Given the description of an element on the screen output the (x, y) to click on. 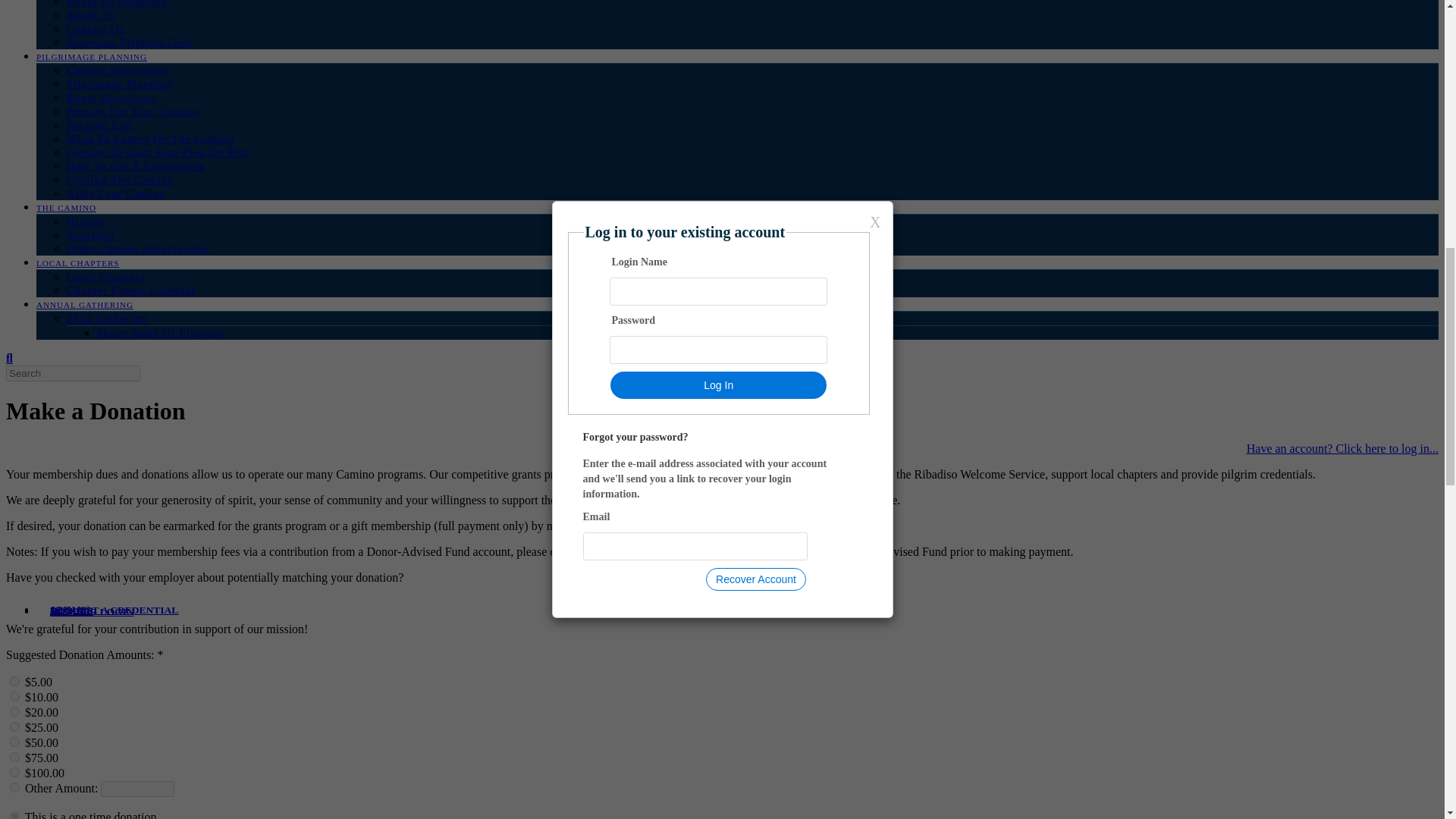
0 (15, 787)
0 (15, 815)
20.0 (15, 711)
5.0 (15, 681)
10.0 (15, 696)
25.0 (15, 726)
100.0 (15, 772)
75.0 (15, 757)
50.0 (15, 741)
